Given the description of an element on the screen output the (x, y) to click on. 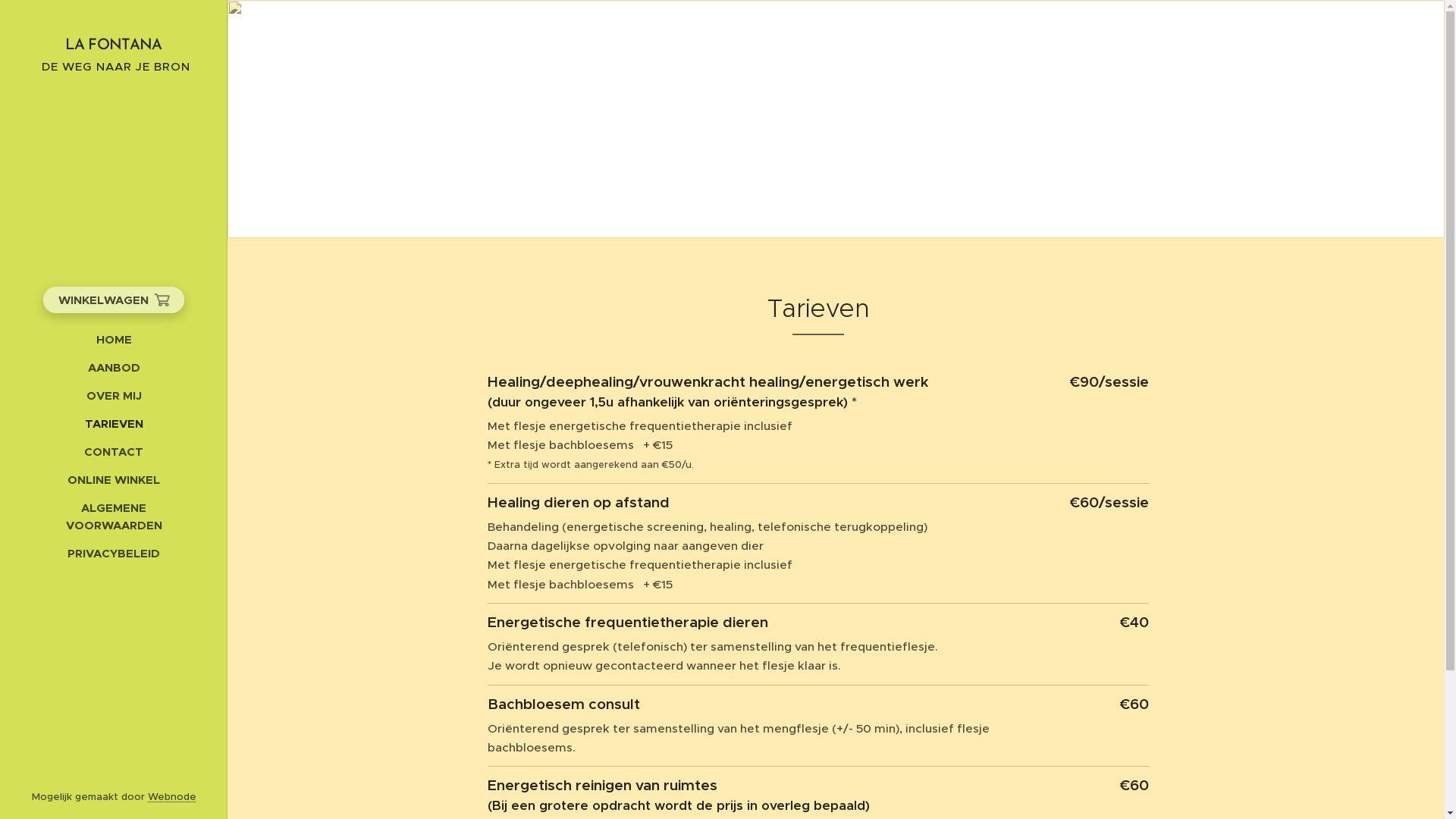
HOME Element type: text (113, 339)
LA FONTANA Element type: text (113, 43)
ALGEMENE VOORWAARDEN Element type: text (113, 515)
Webnode Element type: text (171, 796)
ONLINE WINKEL Element type: text (113, 479)
WINKELWAGEN Element type: text (113, 299)
PRIVACYBELEID Element type: text (113, 552)
OVER MIJ Element type: text (113, 395)
TARIEVEN Element type: text (113, 423)
CONTACT Element type: text (113, 451)
AANBOD Element type: text (113, 367)
